Given the description of an element on the screen output the (x, y) to click on. 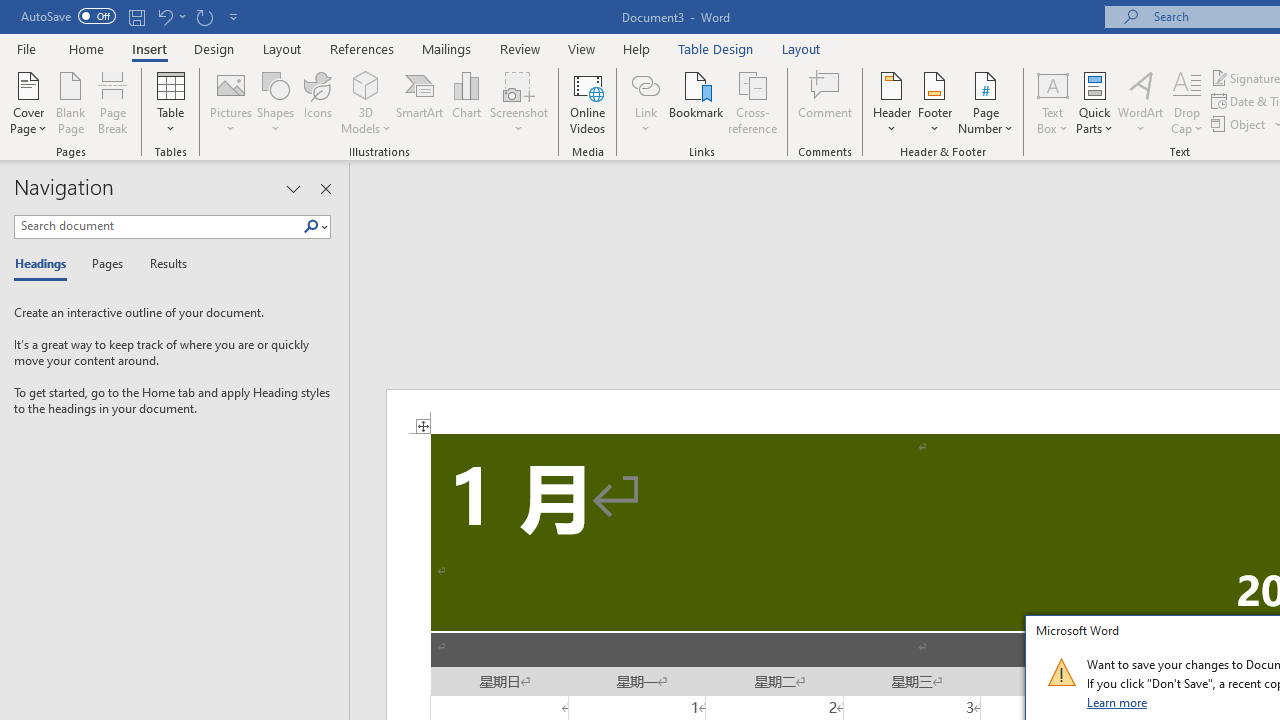
Blank Page (70, 102)
Chart... (466, 102)
Comment (825, 102)
Cross-reference... (752, 102)
Learn more (1118, 702)
Object... (1240, 124)
Quick Parts (1094, 102)
Table (170, 102)
